Given the description of an element on the screen output the (x, y) to click on. 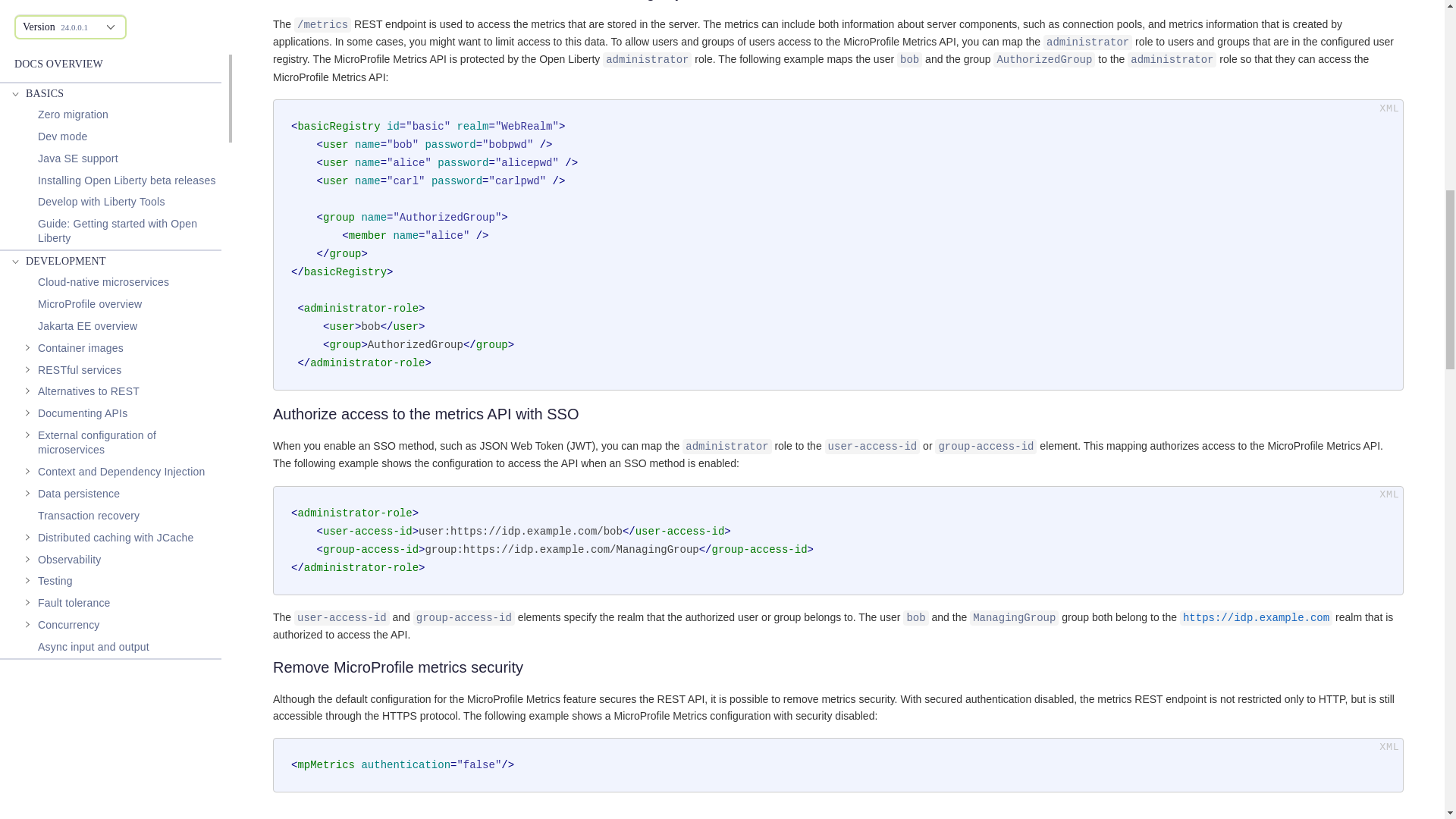
Code block (838, 540)
Code block (838, 764)
